Given the description of an element on the screen output the (x, y) to click on. 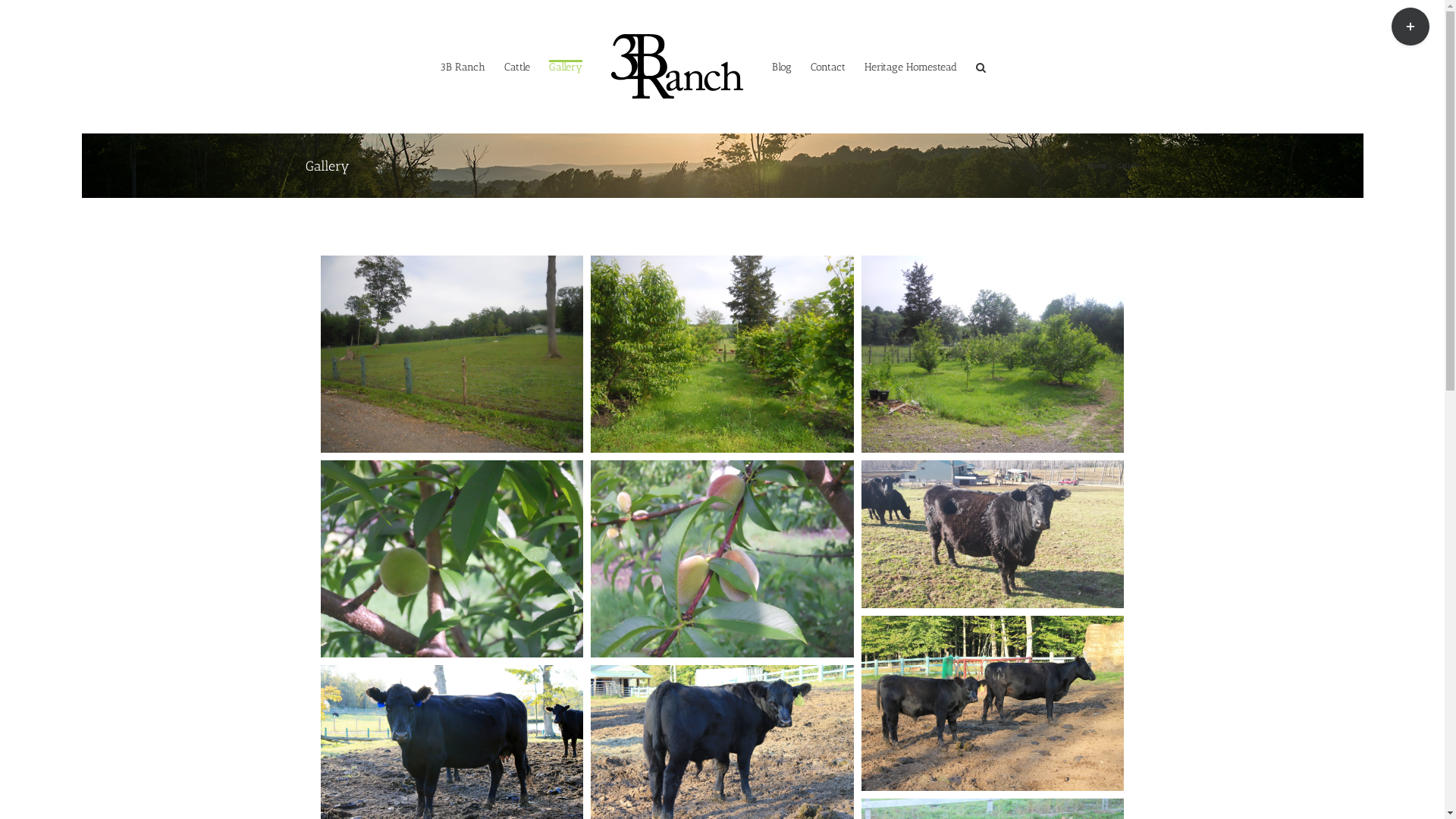
Blog Element type: text (781, 65)
DSCN1387 Element type: hover (451, 353)
DSCN1429 Element type: hover (721, 558)
Heritage Homestead Element type: text (910, 65)
Search Element type: hover (980, 65)
3B Ranch Element type: text (462, 65)
DSCN1430 Element type: hover (721, 353)
Contact Element type: text (827, 65)
DSCN1427 Element type: hover (451, 558)
20140410_170200 Element type: hover (992, 534)
Home Element type: text (1096, 165)
Gallery Element type: text (565, 65)
Toggle Sliding Bar Area Element type: text (1410, 26)
IMG_1095 Element type: hover (992, 702)
DSCN1426 Element type: hover (992, 353)
Cattle Element type: text (517, 65)
